Given the description of an element on the screen output the (x, y) to click on. 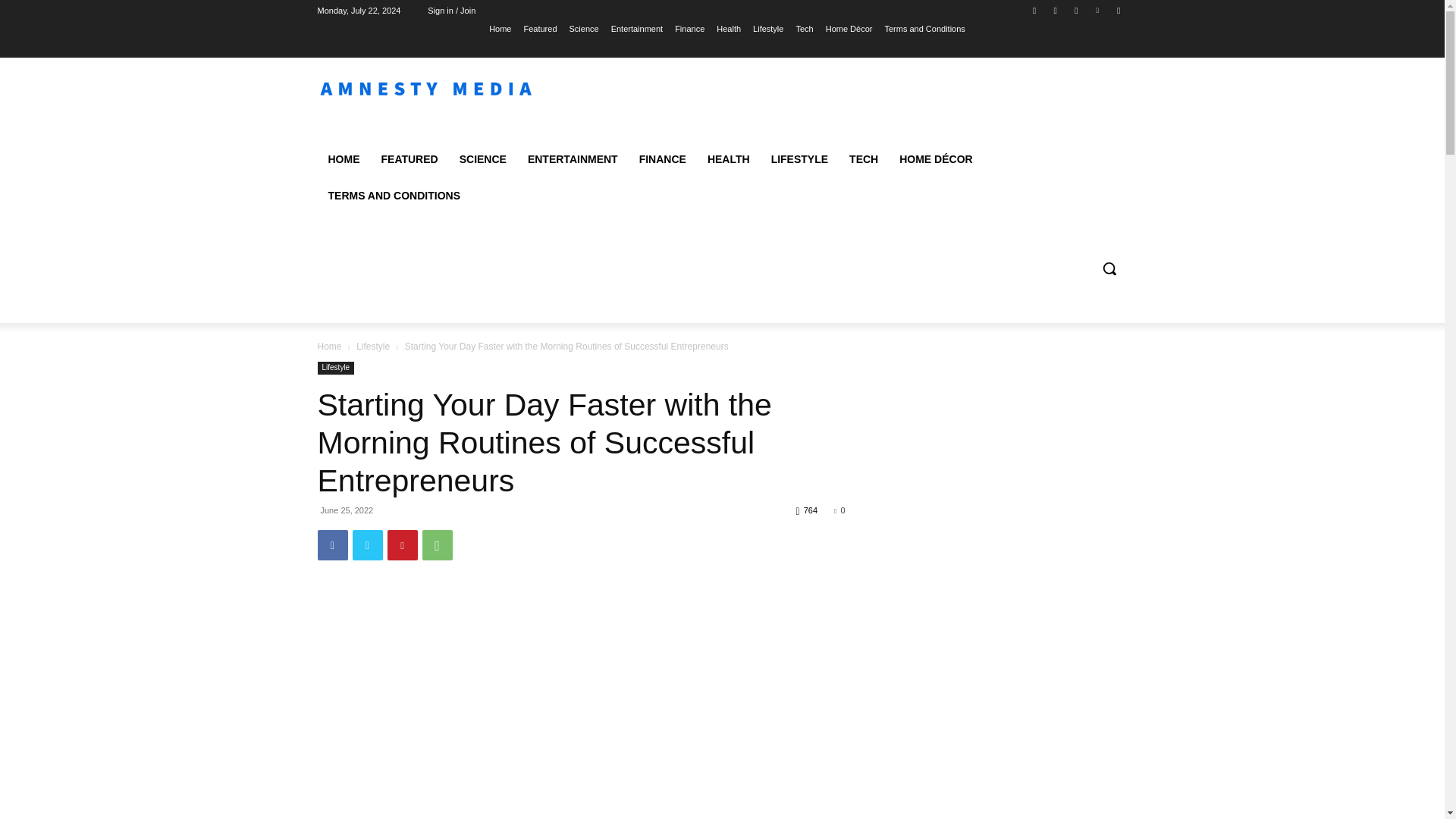
Home (500, 28)
View all posts in Lifestyle (373, 346)
Facebook (332, 544)
Lifestyle (767, 28)
Twitter (366, 544)
SCIENCE (482, 158)
LIFESTYLE (799, 158)
Twitter (1075, 9)
WhatsApp (436, 544)
FEATURED (408, 158)
FINANCE (662, 158)
Pinterest (401, 544)
Facebook (1034, 9)
Morning Routine wake up early (580, 703)
Terms and Conditions (923, 28)
